Given the description of an element on the screen output the (x, y) to click on. 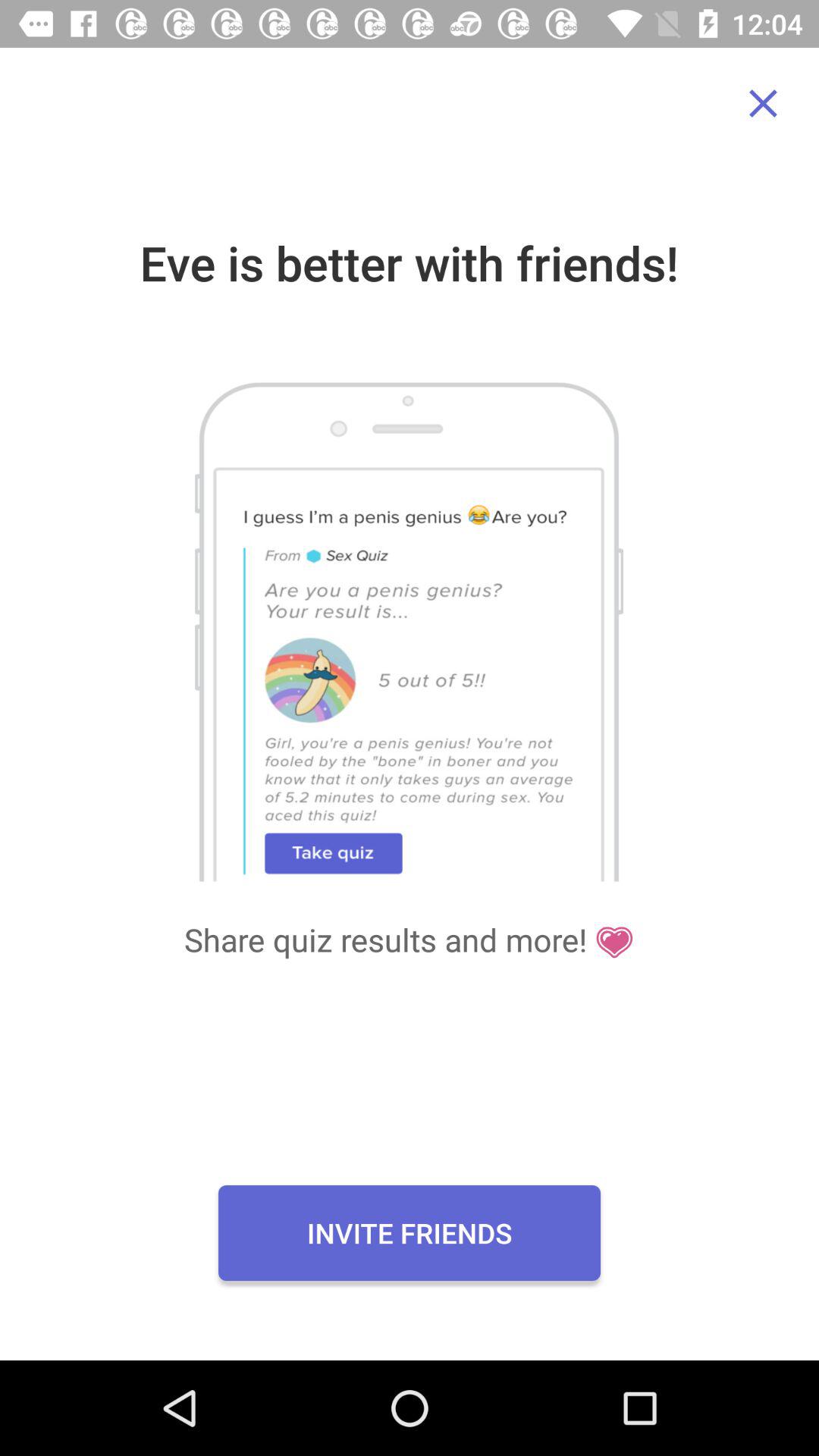
close the app (763, 103)
